Given the description of an element on the screen output the (x, y) to click on. 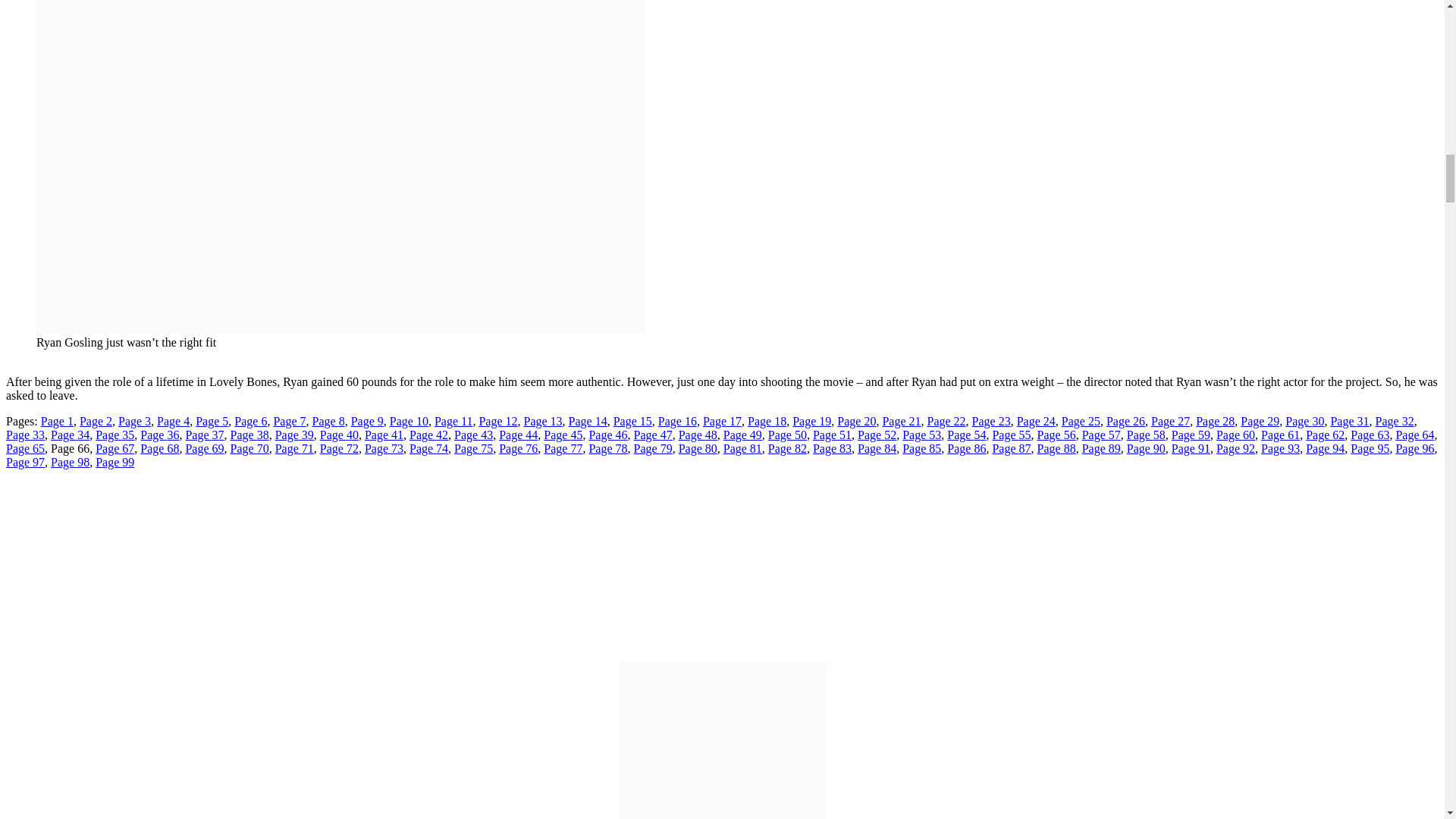
Page 12 (497, 420)
Page 10 (409, 420)
Page 4 (173, 420)
Page 23 (991, 420)
Page 2 (96, 420)
Page 21 (901, 420)
Page 20 (856, 420)
Page 18 (767, 420)
Page 1 (57, 420)
Page 22 (945, 420)
Page 17 (722, 420)
Page 9 (367, 420)
Page 16 (677, 420)
Page 13 (542, 420)
Page 19 (811, 420)
